Given the description of an element on the screen output the (x, y) to click on. 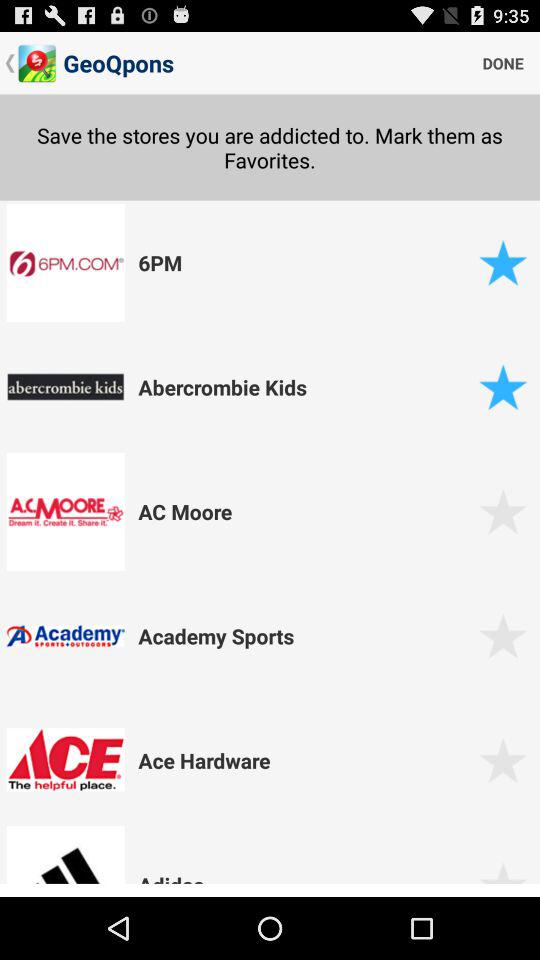
press the 6pm item (305, 262)
